Given the description of an element on the screen output the (x, y) to click on. 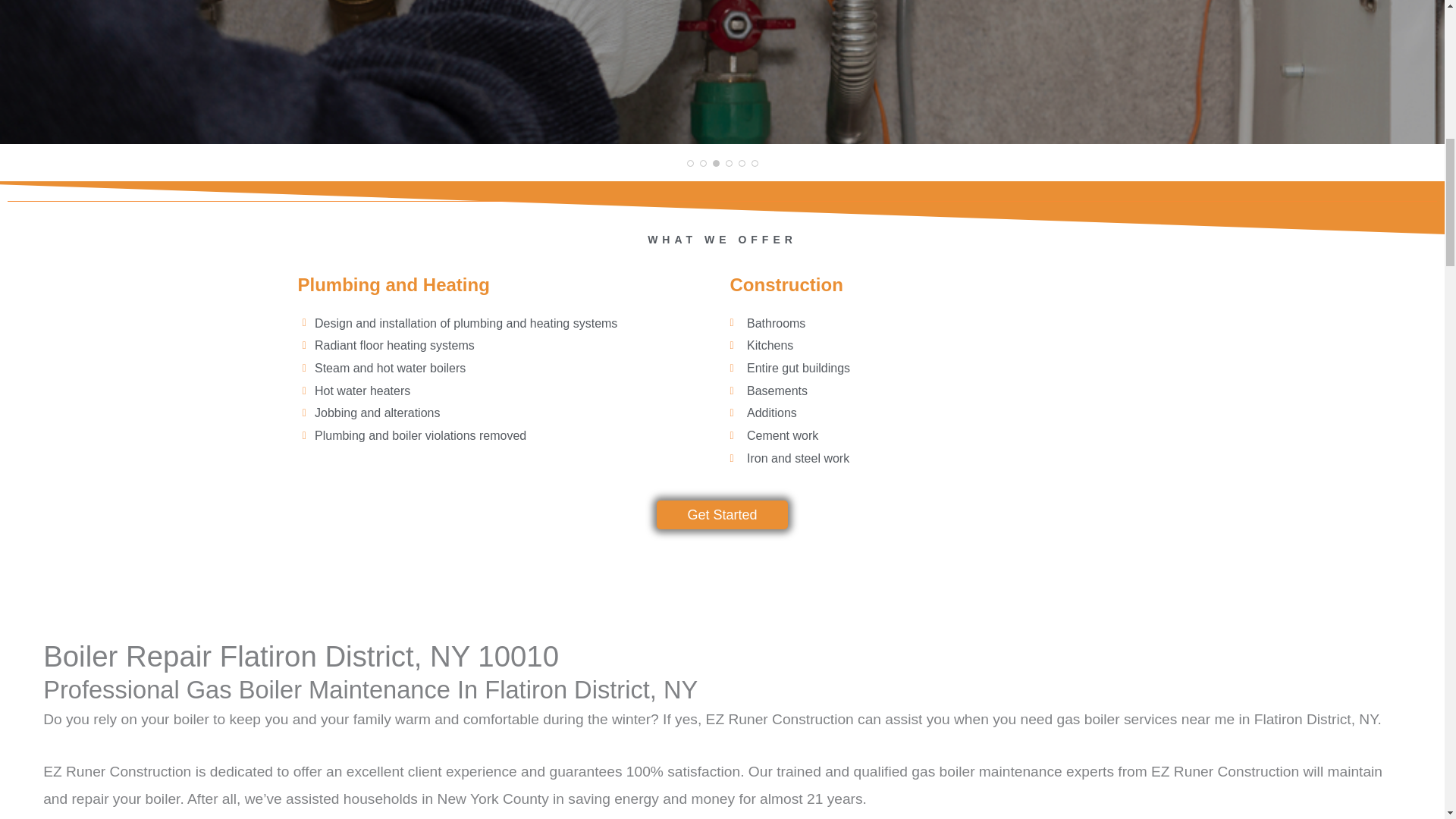
Get Started (721, 514)
